Given the description of an element on the screen output the (x, y) to click on. 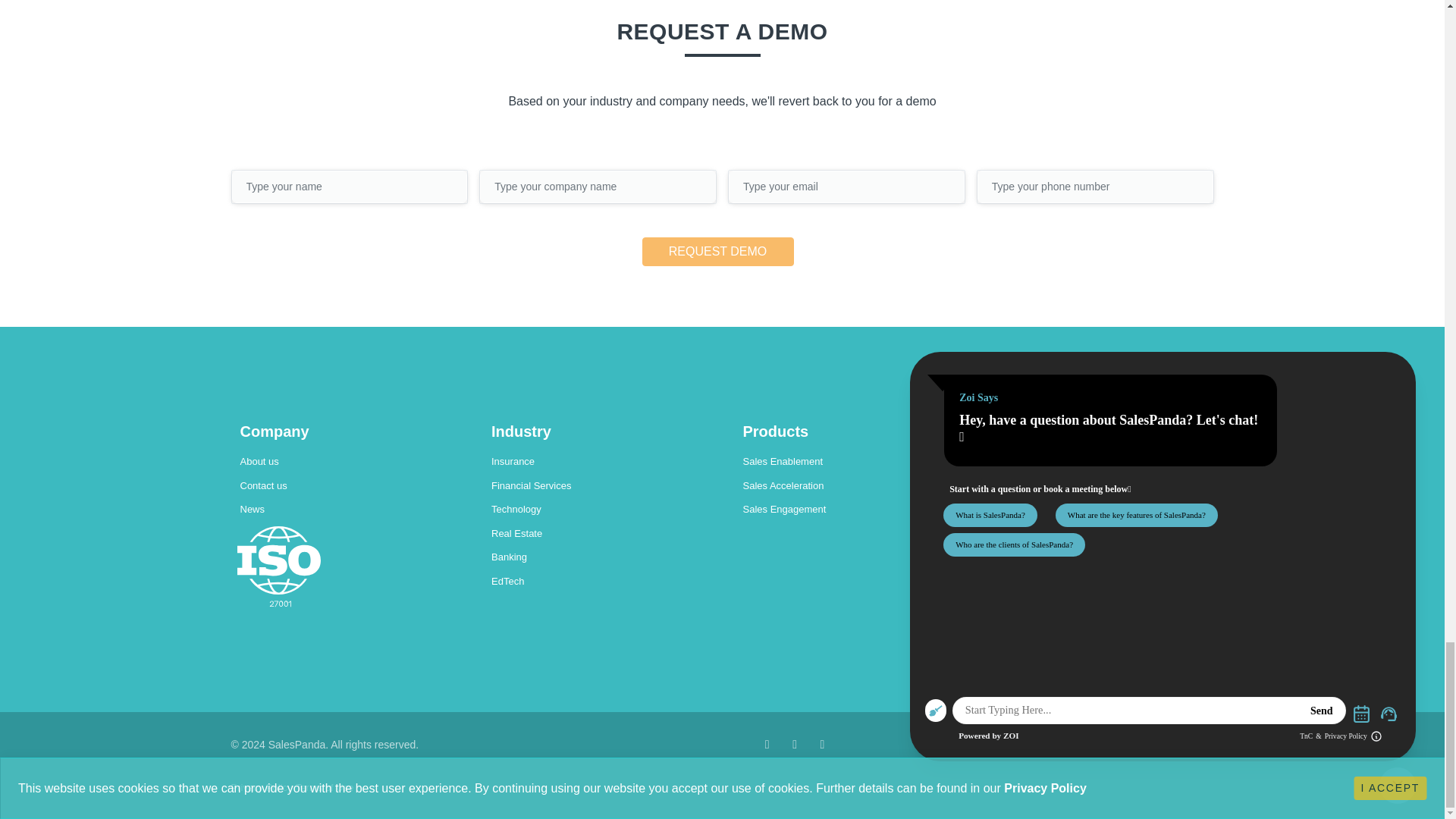
Request Demo (717, 251)
